Given the description of an element on the screen output the (x, y) to click on. 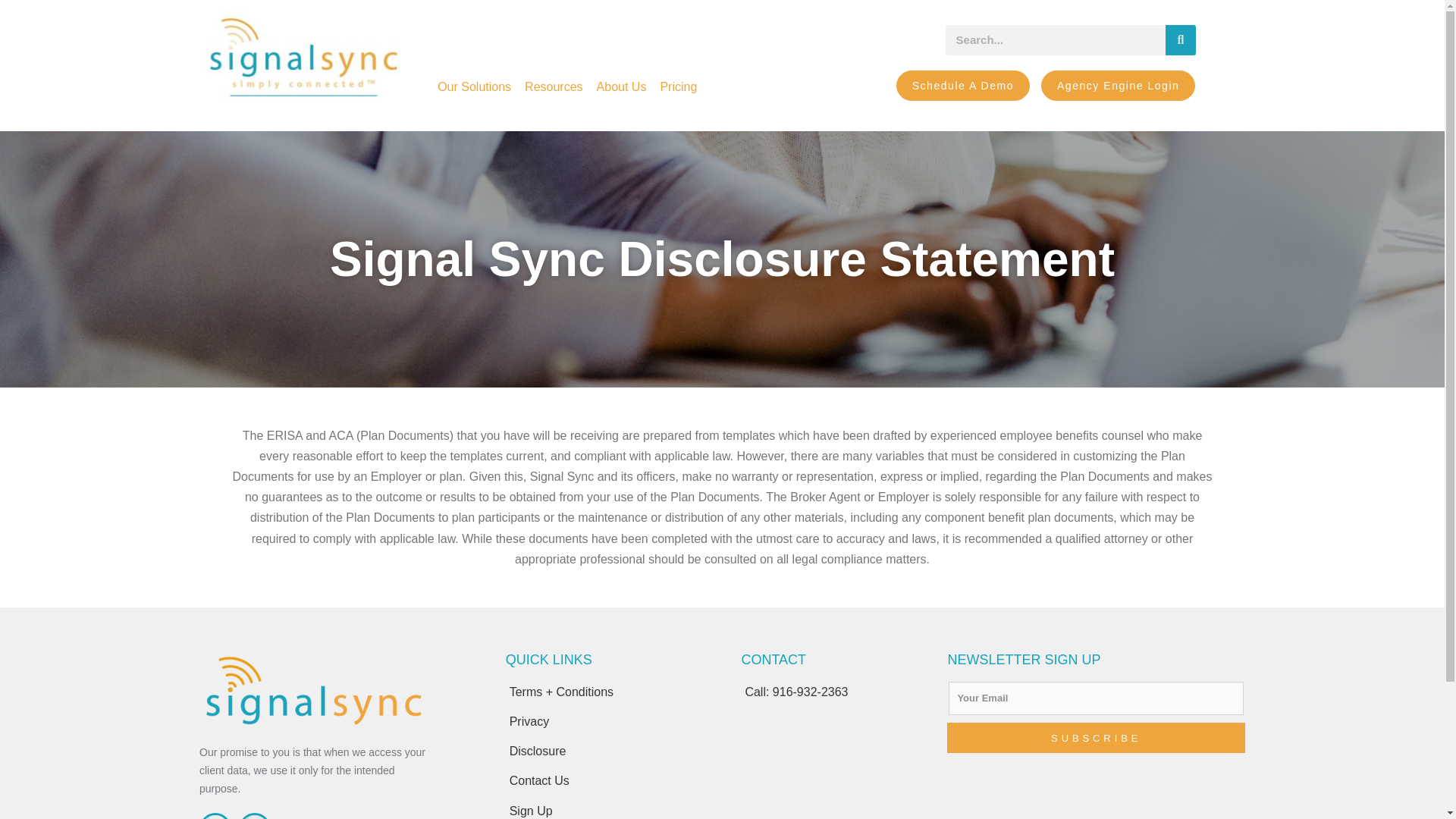
About Us (621, 86)
Resources (553, 86)
Pricing (677, 86)
Our Solutions (474, 86)
